Given the description of an element on the screen output the (x, y) to click on. 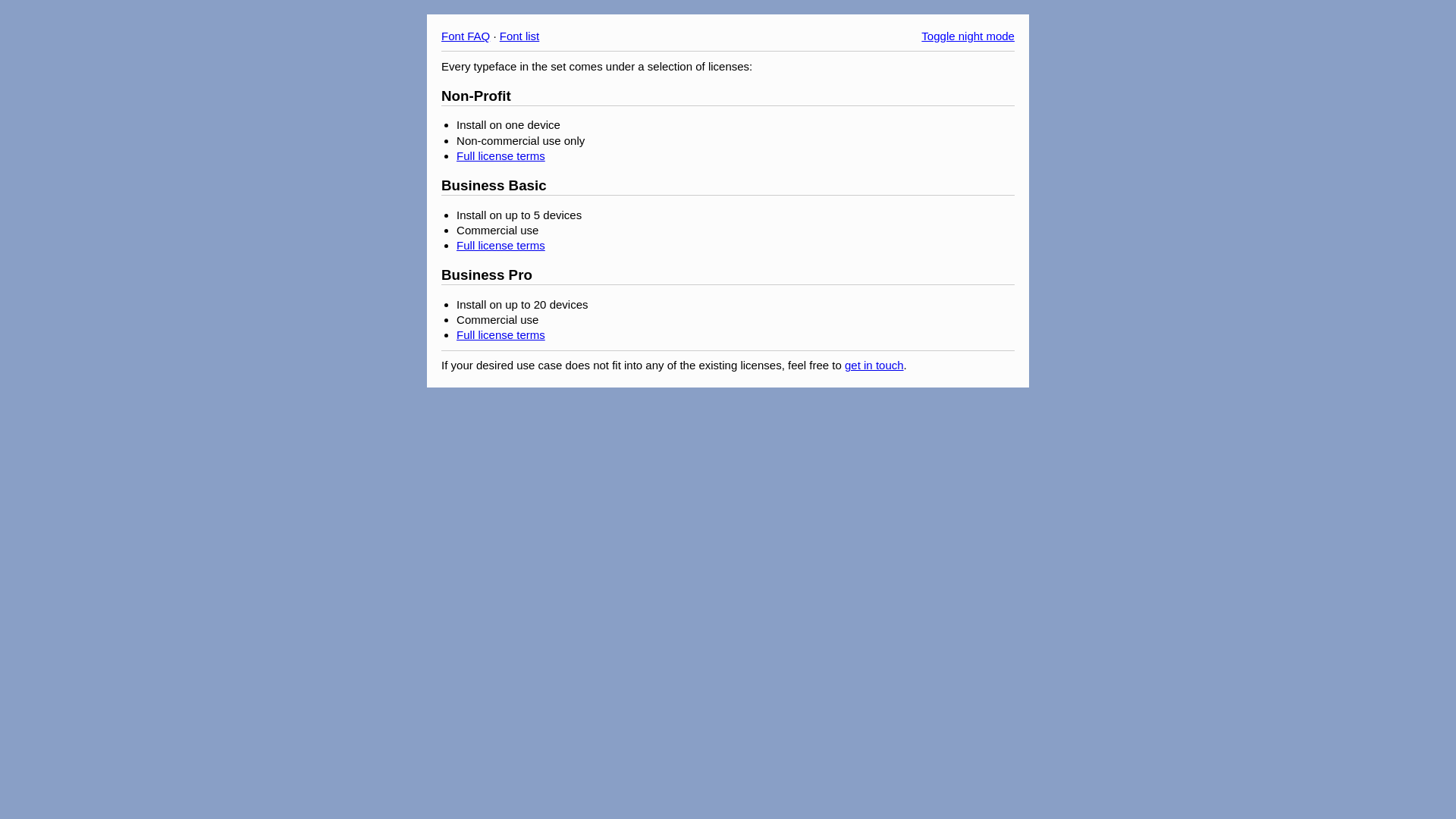
Full license terms Element type: text (500, 155)
Full license terms Element type: text (500, 334)
Font FAQ Element type: text (465, 35)
Business Basic Element type: text (493, 185)
Business Pro Element type: text (486, 274)
Non-Profit Element type: text (476, 95)
Full license terms Element type: text (500, 244)
get in touch Element type: text (873, 364)
Font list Element type: text (519, 35)
